Given the description of an element on the screen output the (x, y) to click on. 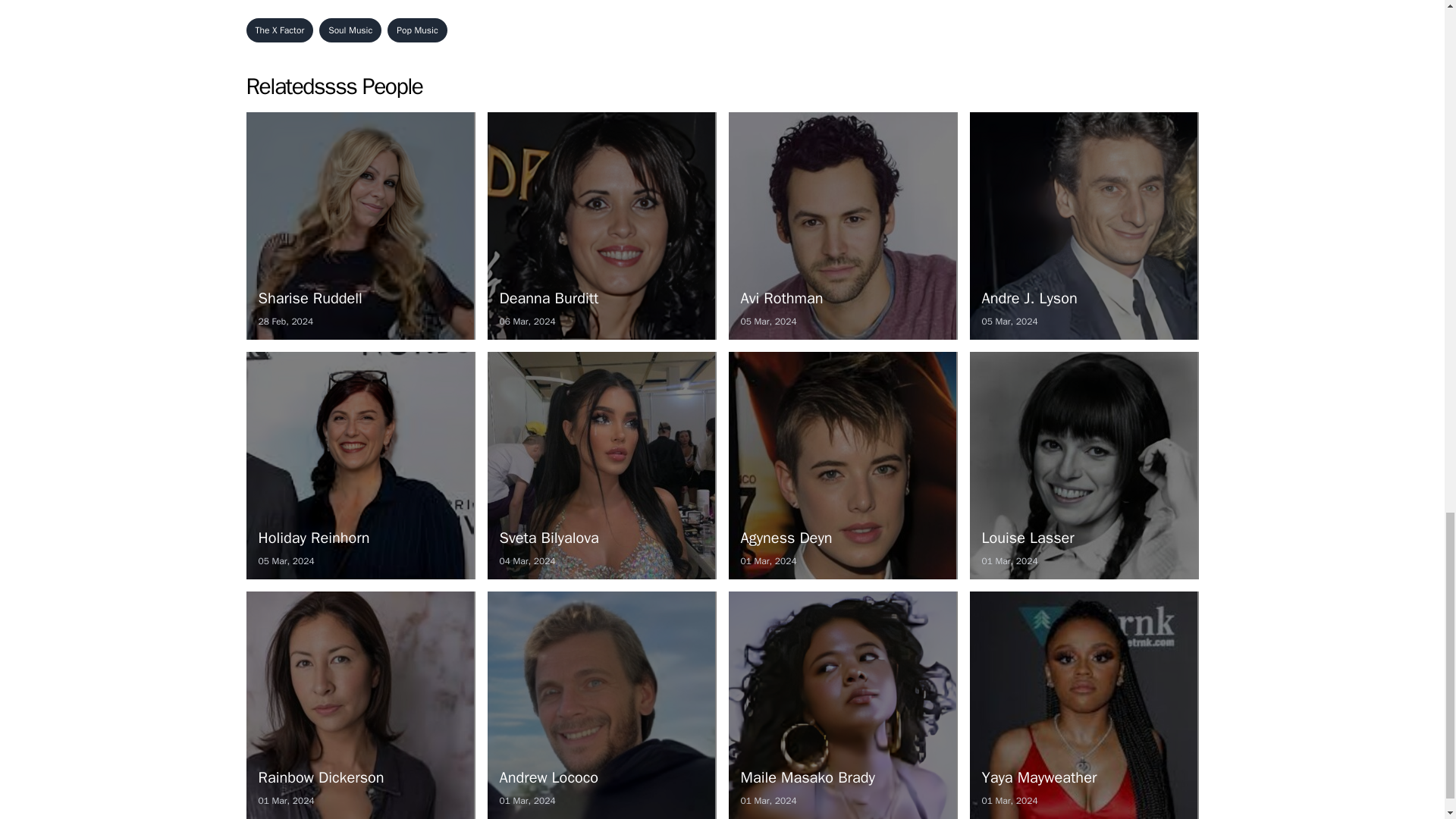
The X Factor (601, 225)
Pop Music (1083, 465)
